Given the description of an element on the screen output the (x, y) to click on. 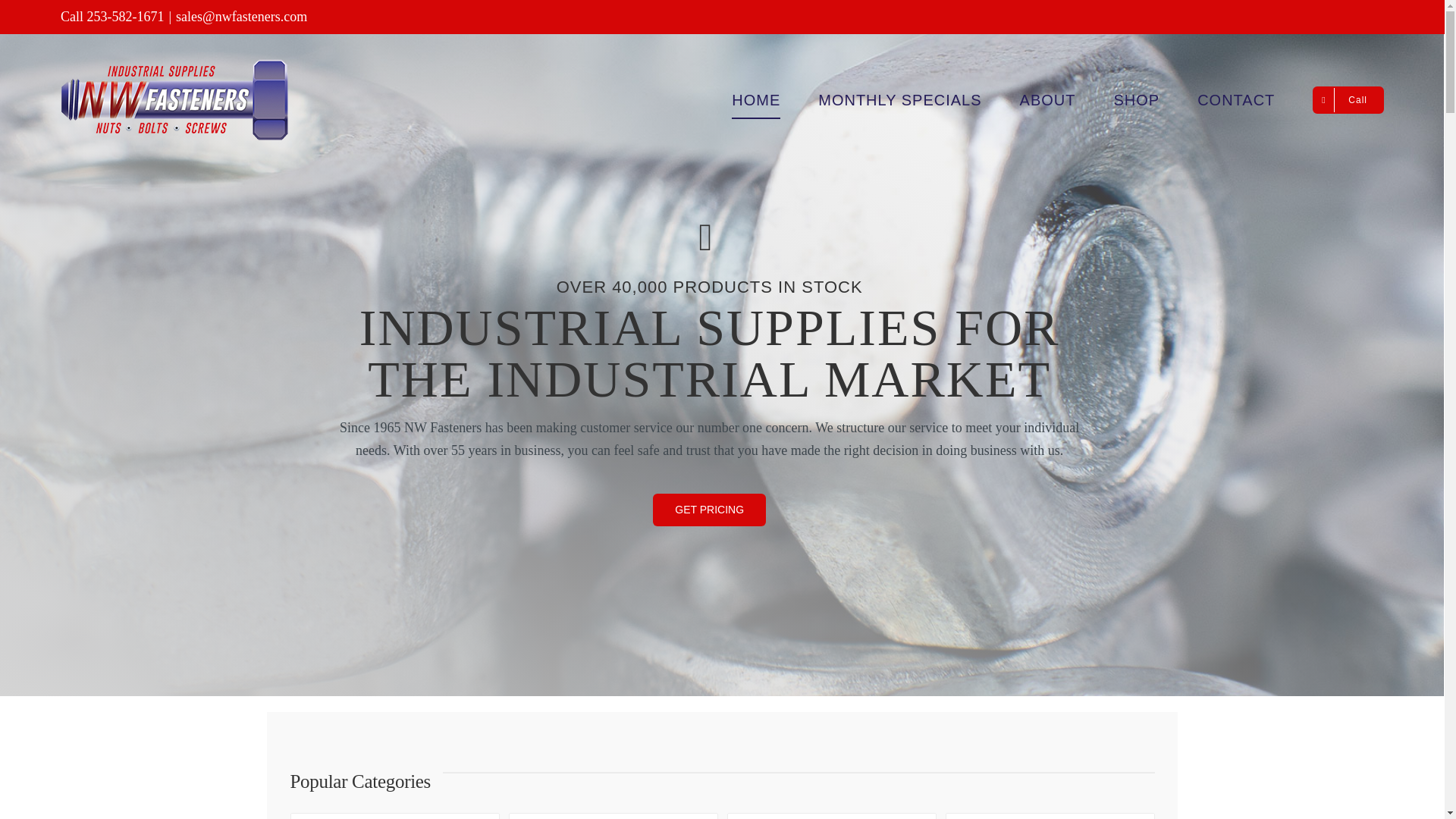
GET PRICING (708, 509)
MONTHLY SPECIALS (899, 99)
